Given the description of an element on the screen output the (x, y) to click on. 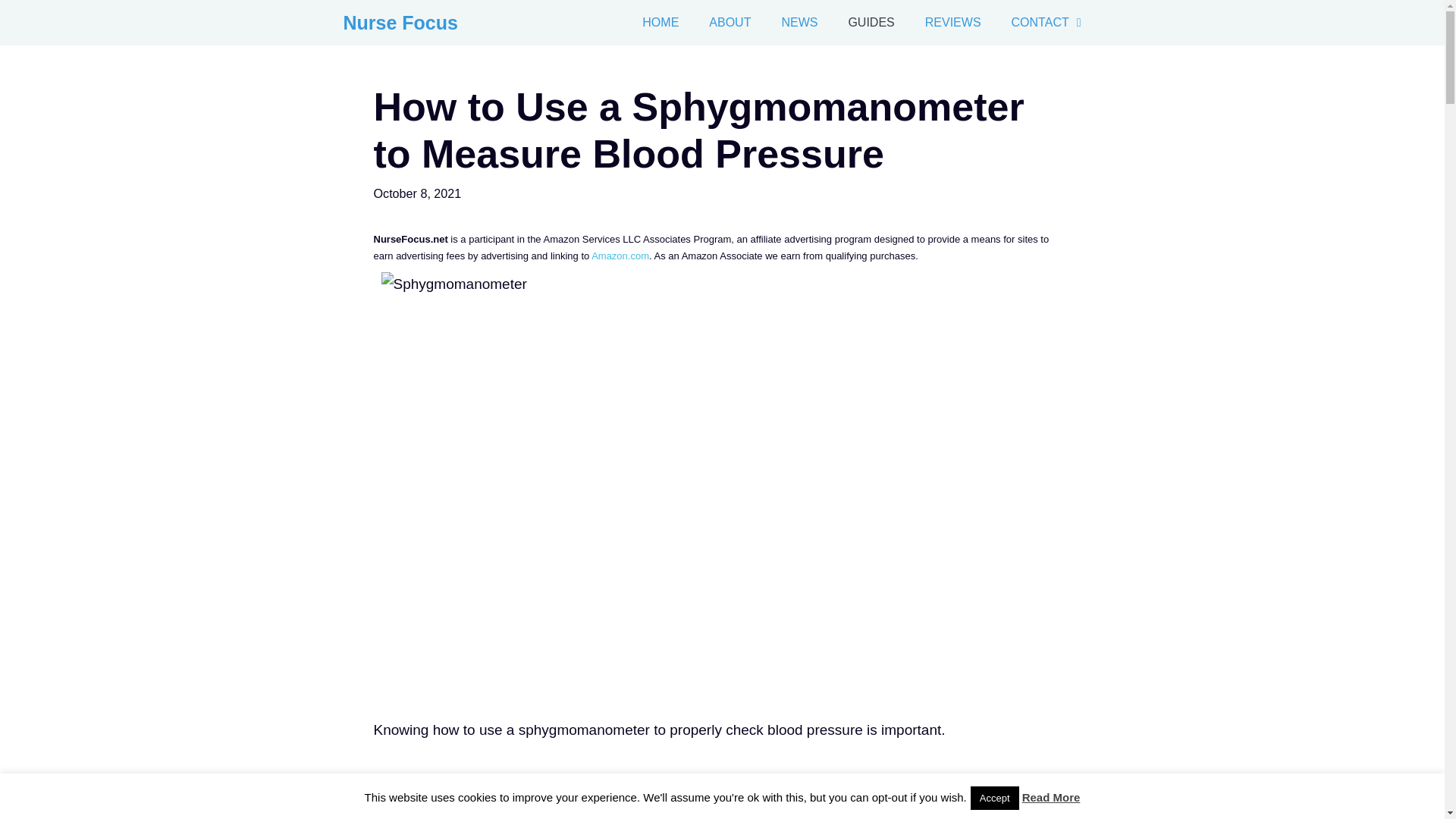
Nurse Focus (399, 22)
GUIDES (870, 22)
CONTACT (1048, 22)
REVIEWS (952, 22)
HOME (660, 22)
NEWS (798, 22)
ABOUT (729, 22)
Amazon.com (620, 255)
